Given the description of an element on the screen output the (x, y) to click on. 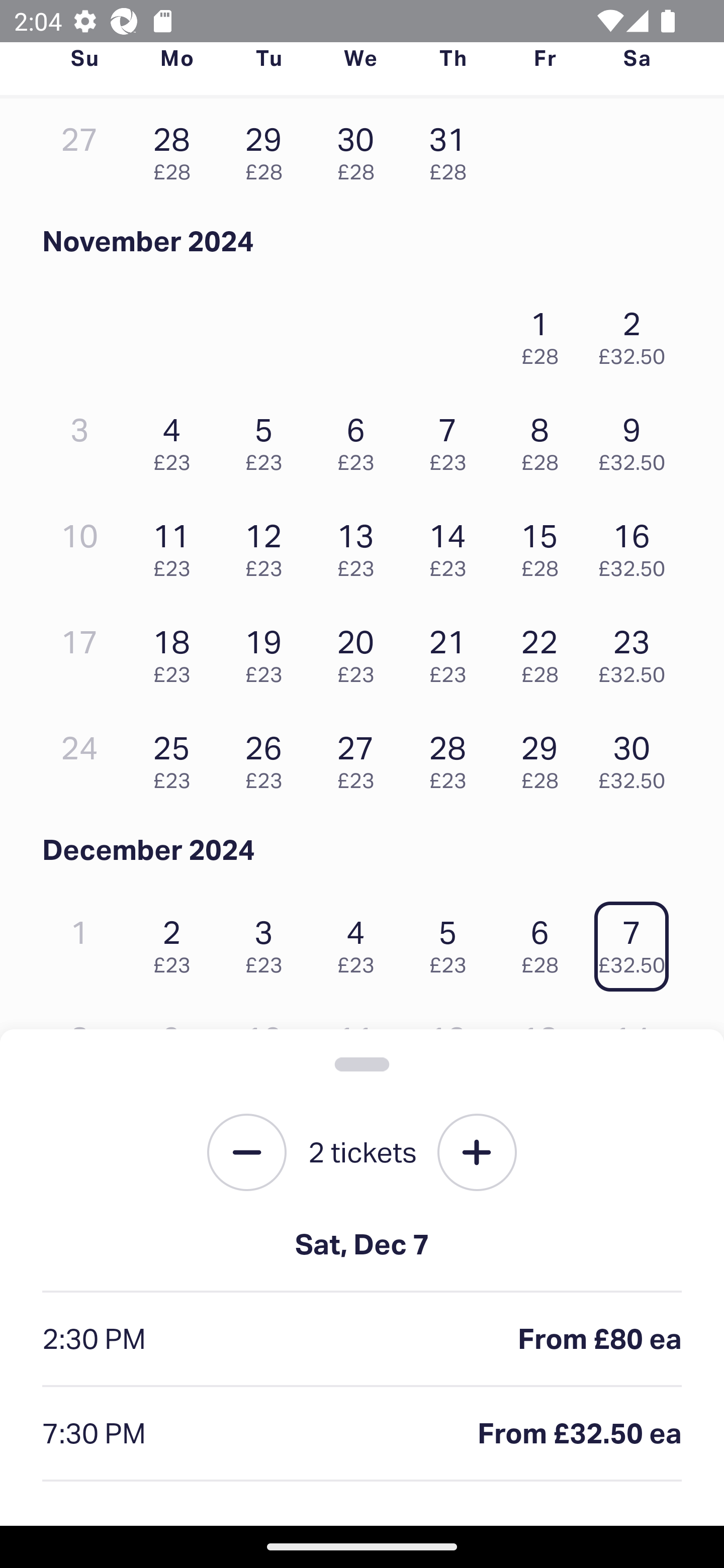
28 £28 (176, 148)
29 £28 (268, 148)
30 £28 (360, 148)
31 £28 (452, 148)
1 £28 (544, 332)
2 £32.50 (636, 332)
4 £23 (176, 439)
5 £23 (268, 439)
6 £23 (360, 439)
7 £23 (452, 439)
8 £28 (544, 439)
9 £32.50 (636, 439)
11 £23 (176, 544)
12 £23 (268, 544)
13 £23 (360, 544)
14 £23 (452, 544)
15 £28 (544, 544)
16 £32.50 (636, 544)
18 £23 (176, 651)
19 £23 (268, 651)
20 £23 (360, 651)
21 £23 (452, 651)
22 £28 (544, 651)
23 £32.50 (636, 651)
25 £23 (176, 757)
26 £23 (268, 757)
27 £23 (360, 757)
28 £23 (452, 757)
29 £28 (544, 757)
30 £32.50 (636, 757)
2 £23 (176, 941)
3 £23 (268, 941)
4 £23 (360, 941)
5 £23 (452, 941)
6 £28 (544, 941)
7 £32.50 (636, 941)
2:30 PM From £80 ea (361, 1339)
7:30 PM From £32.50 ea (361, 1434)
